Given the description of an element on the screen output the (x, y) to click on. 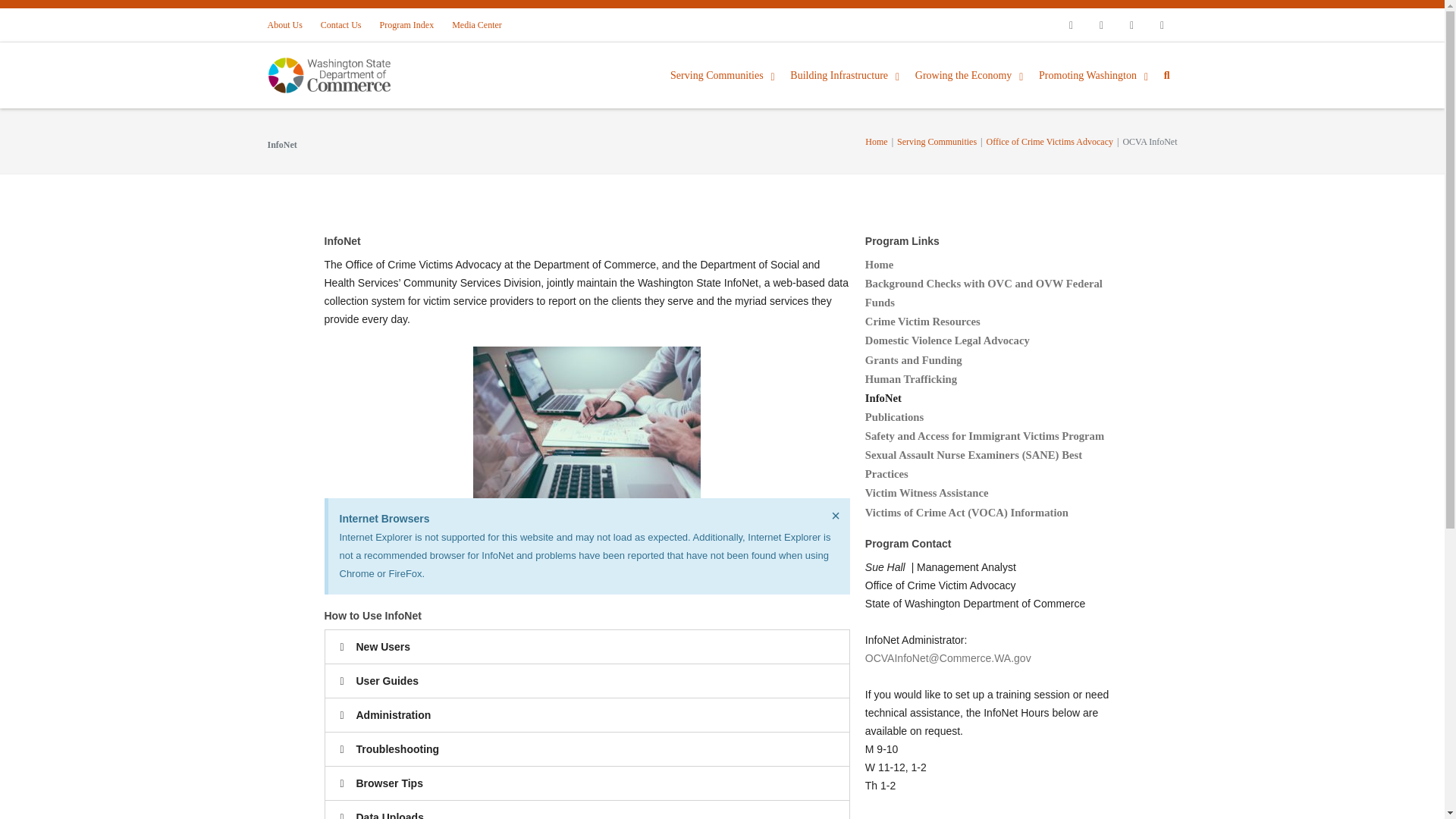
Twitter (1101, 24)
Linkedin (1161, 24)
Instagram (1131, 24)
Serving Communities (721, 75)
Growing the Economy (969, 75)
Contact Us (341, 24)
Promoting Washington (1093, 75)
Washington State Department of Commerce (341, 75)
About Us (288, 24)
Building Infrastructure (844, 75)
Program Index (407, 24)
Facebook (1070, 24)
Media Center (476, 24)
